Given the description of an element on the screen output the (x, y) to click on. 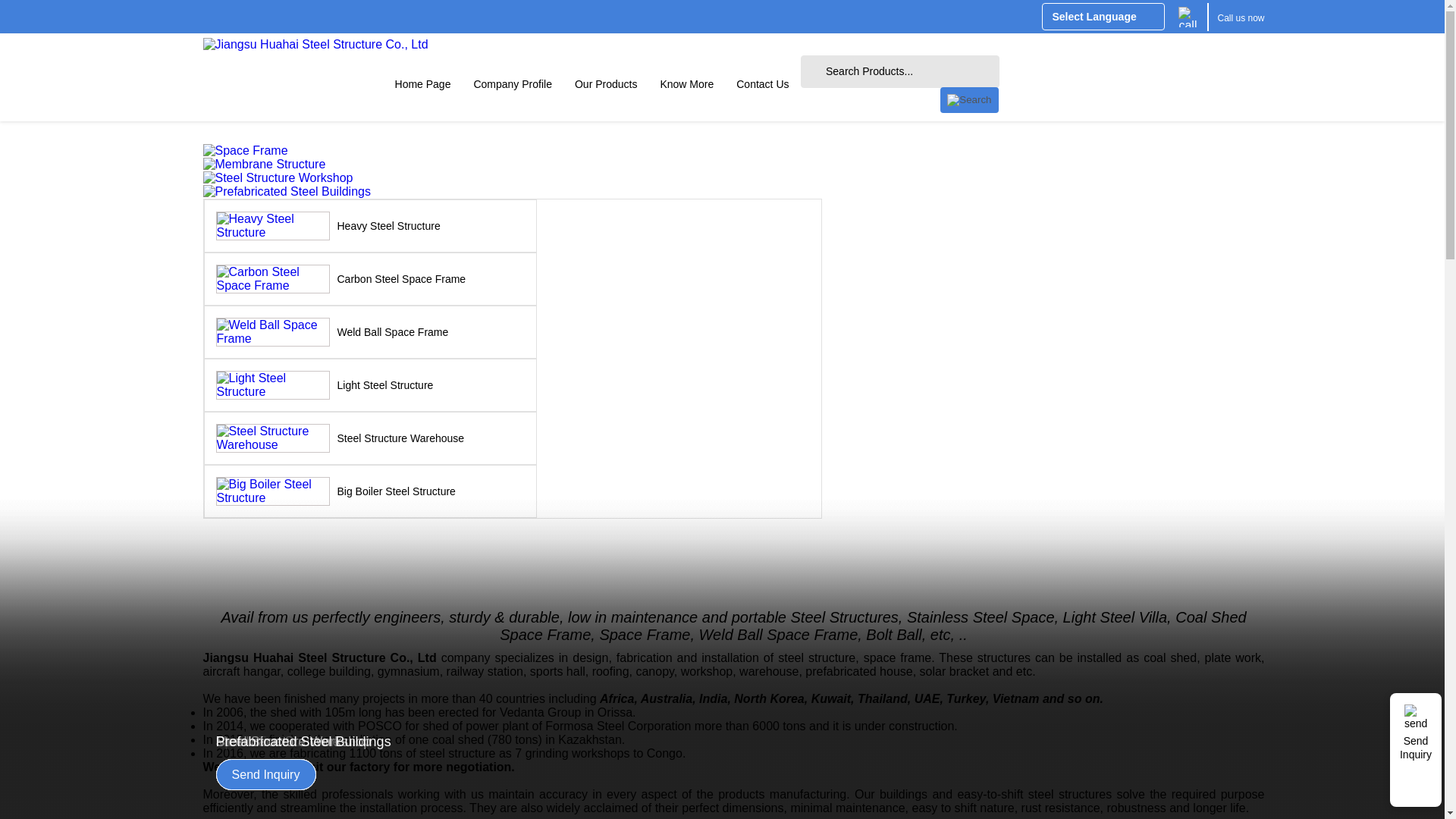
Search Products... (899, 71)
Membrane Structure (277, 741)
Contact Us (762, 83)
Space Frame (265, 741)
Home Page (423, 83)
Company Profile (512, 83)
submit (968, 99)
Know More (686, 83)
Select Language (1102, 16)
Search Products... (899, 71)
